Given the description of an element on the screen output the (x, y) to click on. 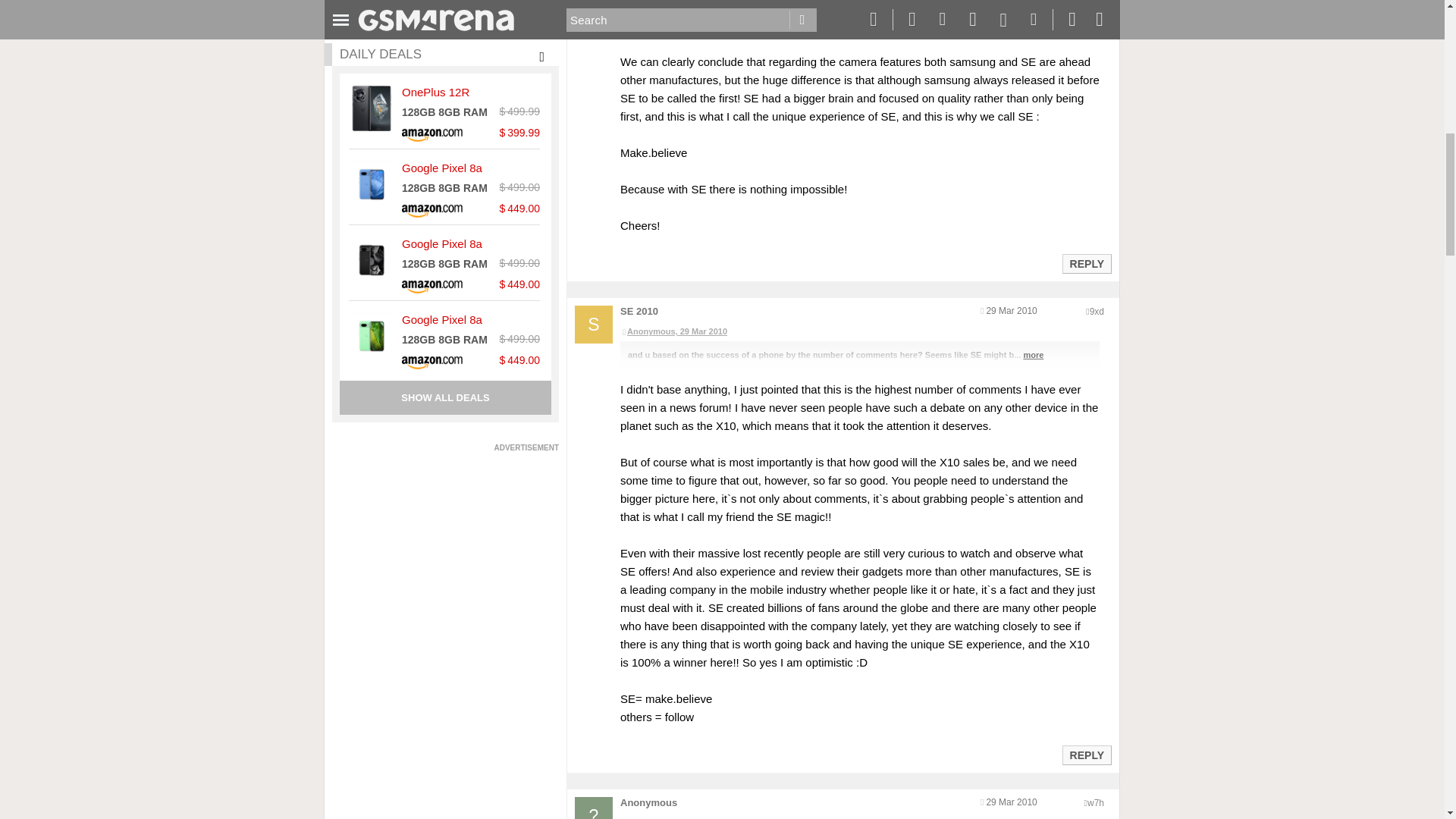
Encoded anonymized location (1095, 802)
Encoded anonymized location (1096, 311)
Reply to this post (1086, 263)
Reply to this post (1086, 755)
